Given the description of an element on the screen output the (x, y) to click on. 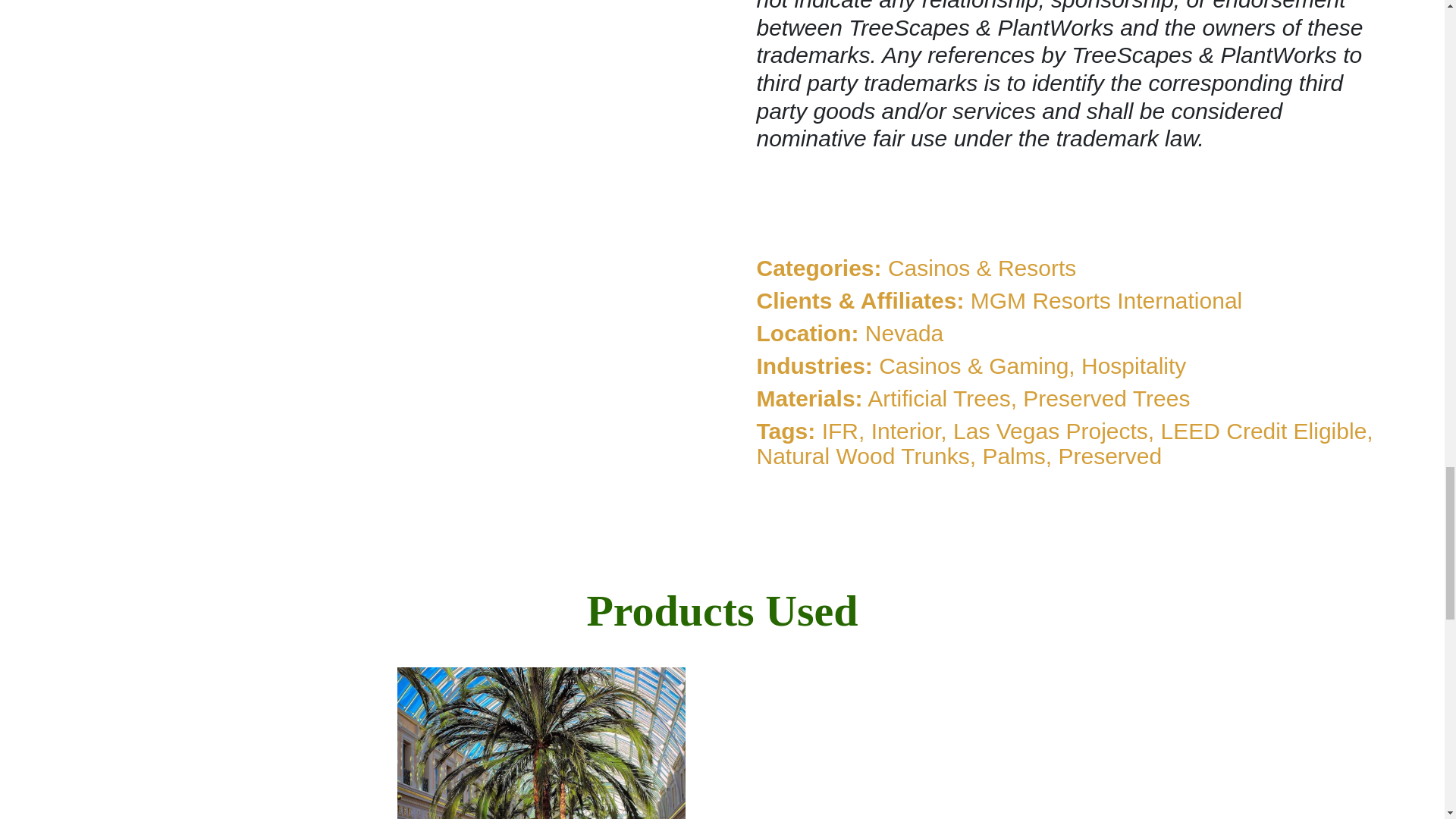
IFR (840, 430)
Nevada (903, 333)
Natural Wood Trunks (863, 455)
MGM Resorts International (1106, 300)
Palms (1013, 455)
Hospitality (1133, 365)
Artificial Trees (938, 398)
Interior (905, 430)
Las Vegas Projects (1050, 430)
LEED Credit Eligible (1263, 430)
Preserved Trees (1106, 398)
